Given the description of an element on the screen output the (x, y) to click on. 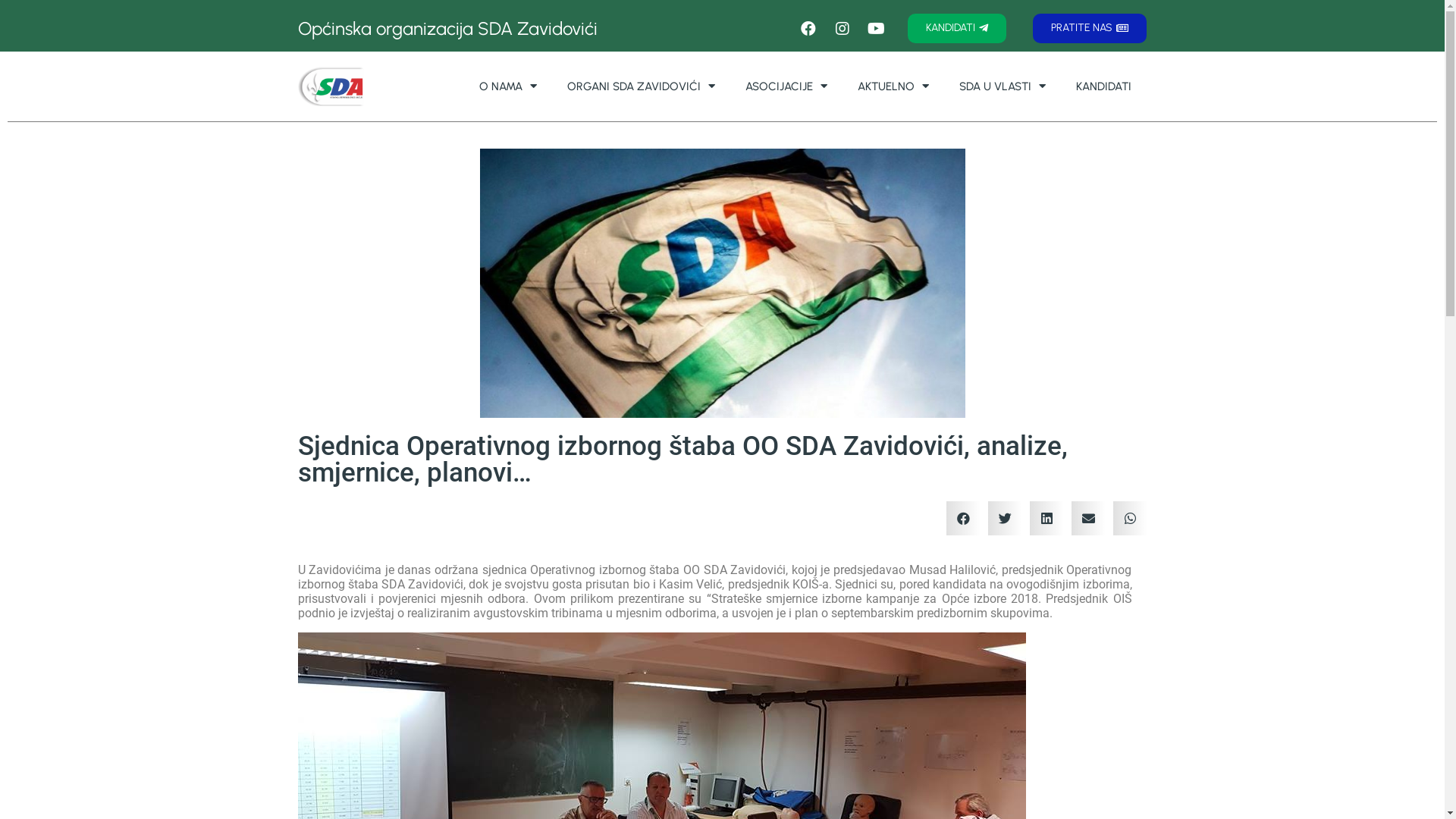
O NAMA Element type: text (508, 86)
AKTUELNO Element type: text (893, 86)
ASOCIJACIJE Element type: text (786, 86)
KANDIDATI Element type: text (956, 28)
SDA U VLASTI Element type: text (1002, 86)
PRATITE NAS Element type: text (1089, 28)
KANDIDATI Element type: text (1103, 86)
